Given the description of an element on the screen output the (x, y) to click on. 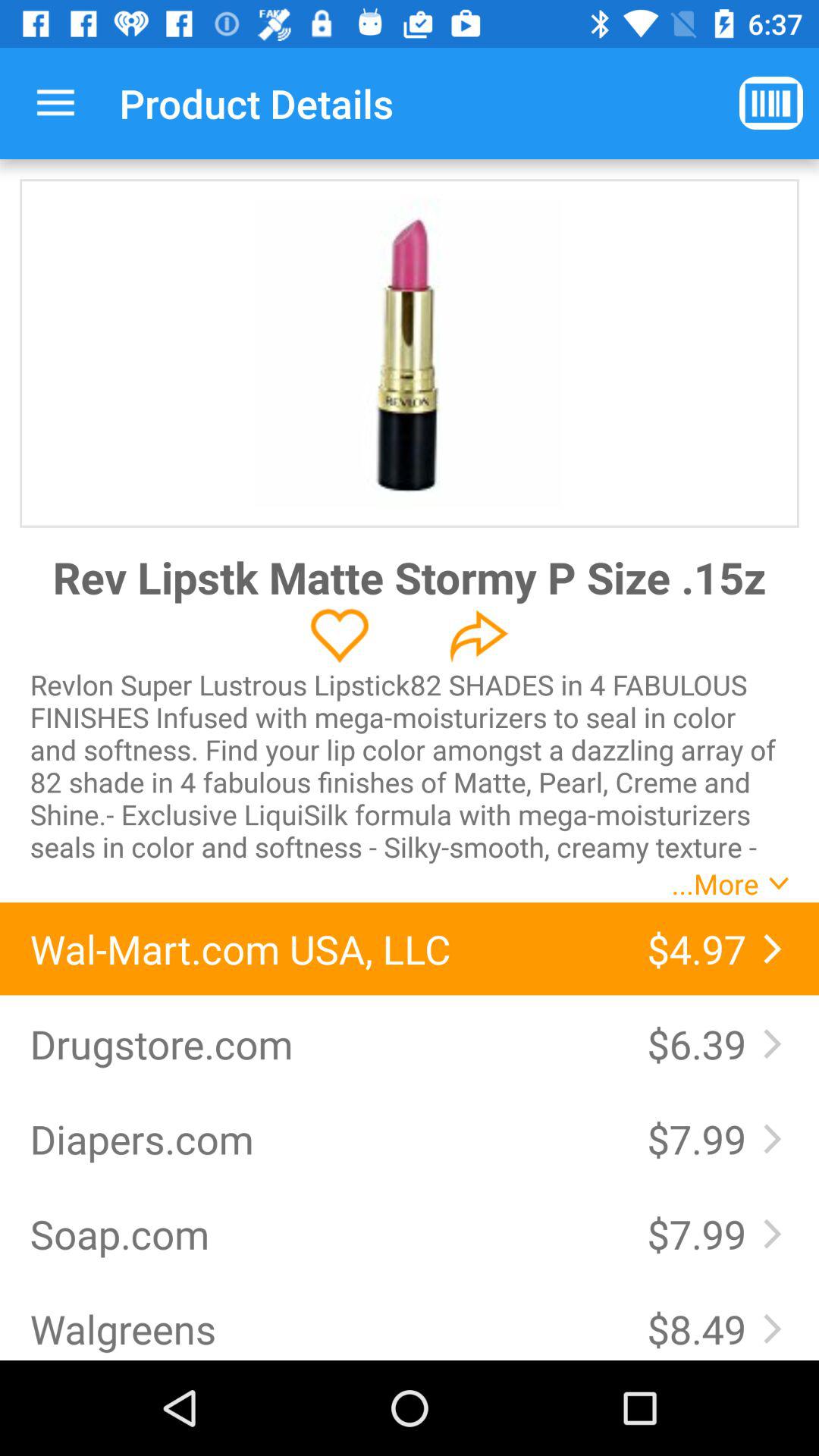
turn on the item below the revlon super lustrous icon (323, 948)
